Given the description of an element on the screen output the (x, y) to click on. 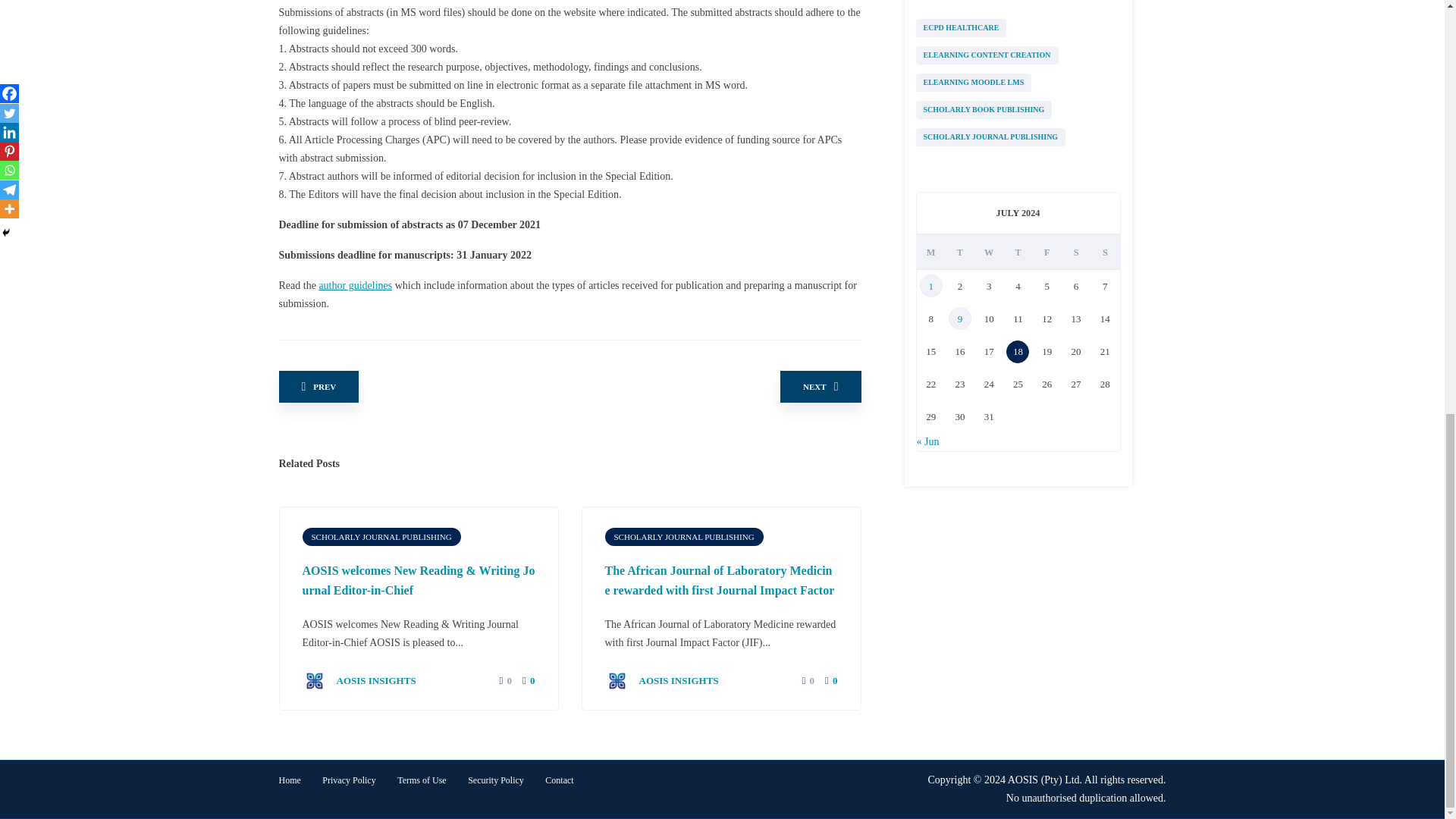
AOSIS Insights (357, 679)
0 comments (528, 680)
  Likes (499, 680)
